Given the description of an element on the screen output the (x, y) to click on. 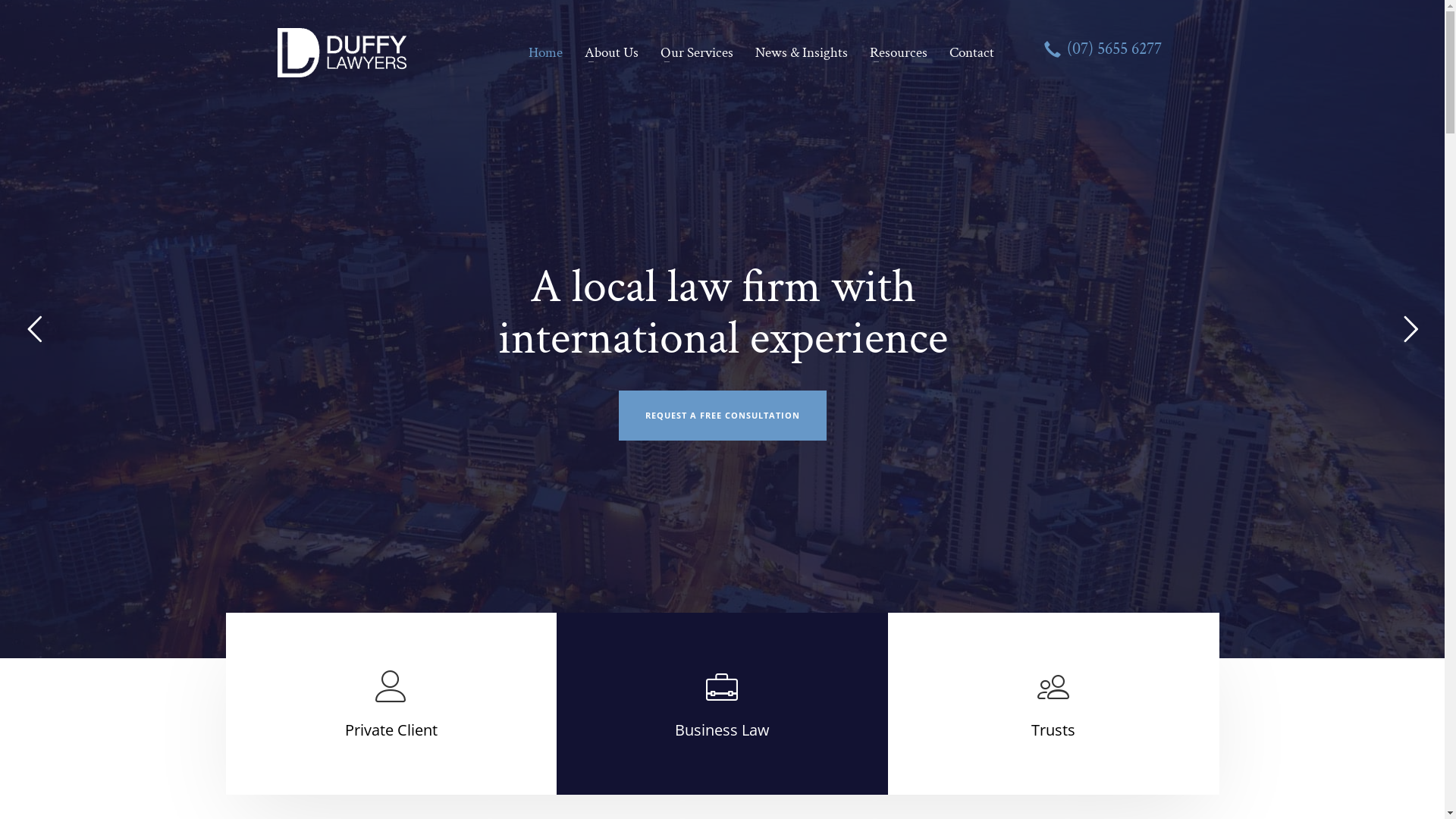
About Us Element type: text (610, 52)
Trusts Element type: text (1053, 728)
(07) 5655 6277 Element type: text (1101, 52)
Resources Element type: text (897, 52)
Our Services Element type: text (695, 52)
Private Client Element type: text (391, 728)
Business Law Element type: text (721, 728)
Home Element type: text (544, 52)
Estate planning | Wills | Probate | Trusts Element type: hover (343, 52)
News & Insights Element type: text (801, 52)
Contact Element type: text (967, 52)
